Given the description of an element on the screen output the (x, y) to click on. 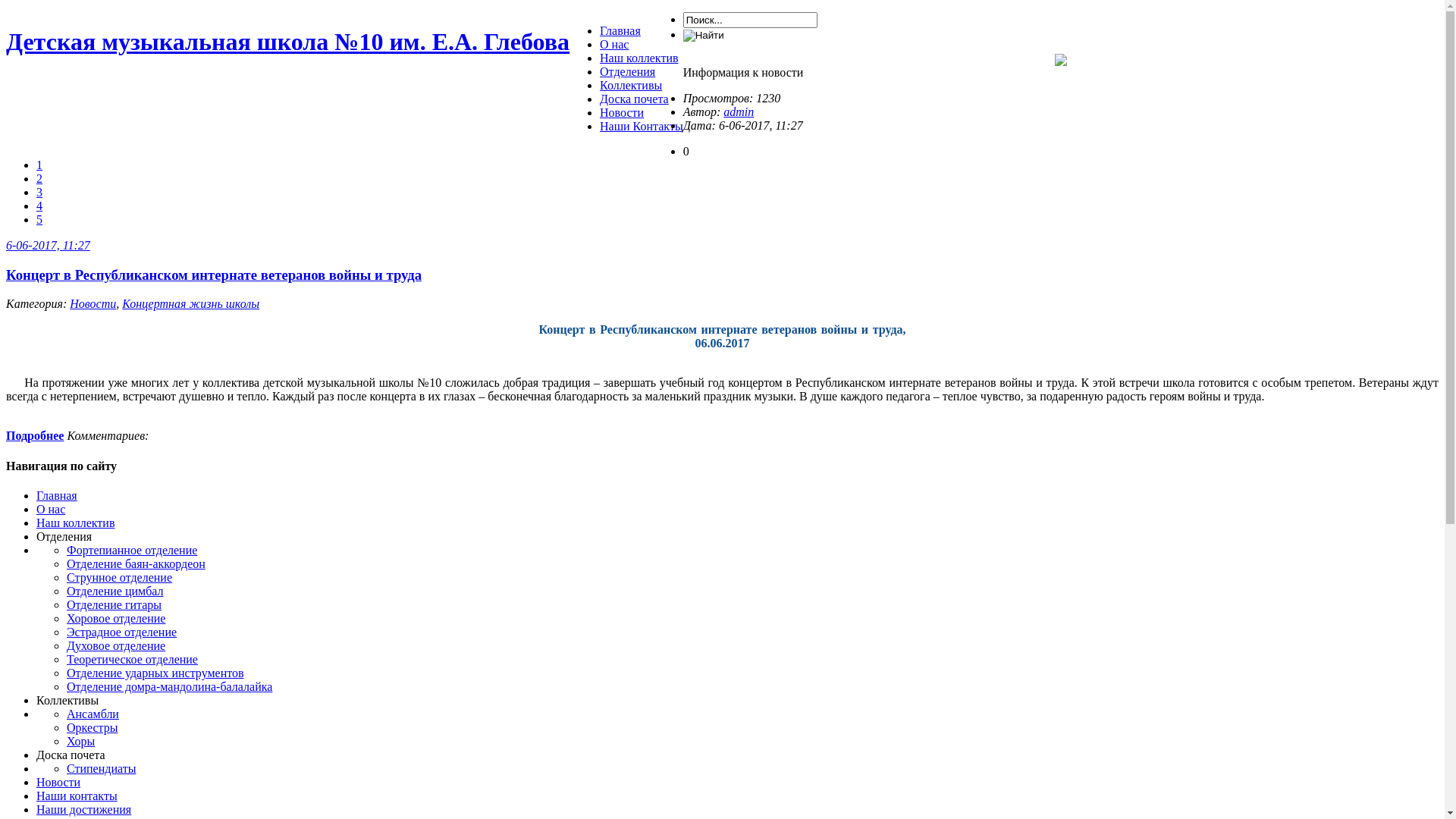
2 Element type: text (39, 178)
3 Element type: text (39, 191)
4 Element type: text (39, 205)
admin Element type: text (738, 111)
6-06-2017, 11:27 Element type: text (48, 244)
5 Element type: text (39, 219)
1 Element type: text (39, 164)
